Given the description of an element on the screen output the (x, y) to click on. 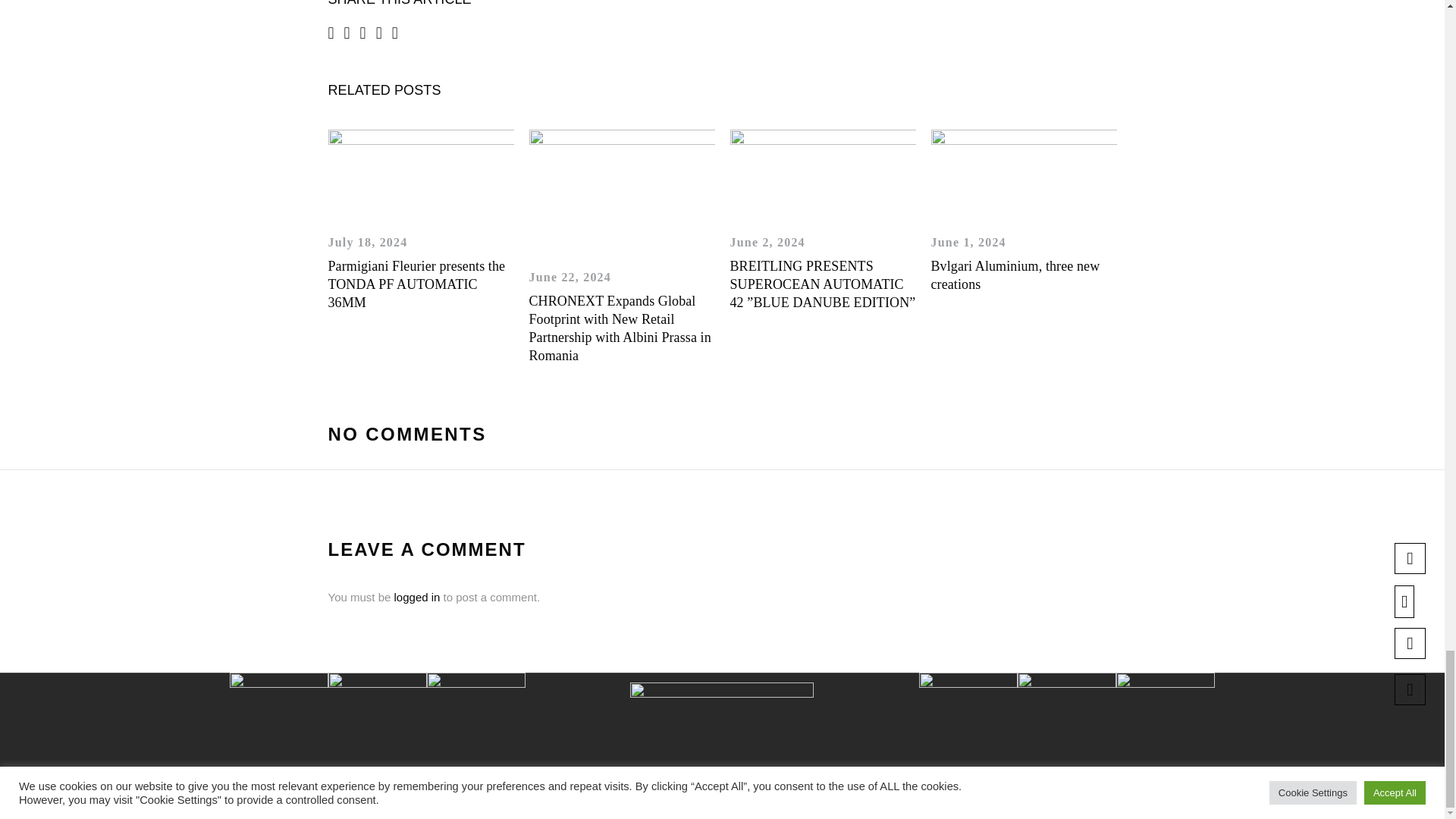
Bvlgari Aluminium, three new creations (1015, 274)
Parmigiani Fleurier presents the TONDA PF AUTOMATIC 36MM (420, 173)
Bvlgari Aluminium, three new creations (1023, 173)
Parmigiani Fleurier presents the TONDA PF AUTOMATIC 36MM (416, 284)
